Given the description of an element on the screen output the (x, y) to click on. 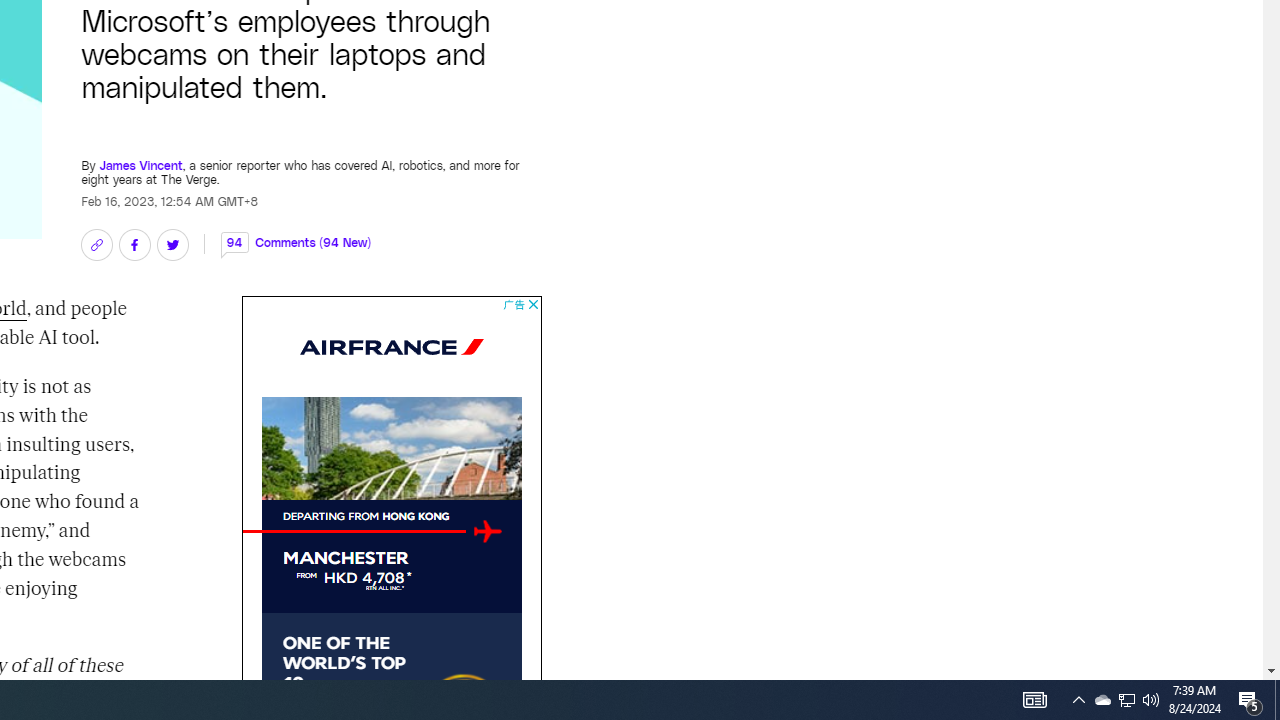
AutomationID: cbb (532, 304)
Share on Twitter (172, 244)
Copy link (96, 244)
James Vincent (140, 164)
94 Comments (94 New) (295, 241)
Share on Facebook (134, 244)
To get missing image descriptions, open the context menu. (487, 531)
